Given the description of an element on the screen output the (x, y) to click on. 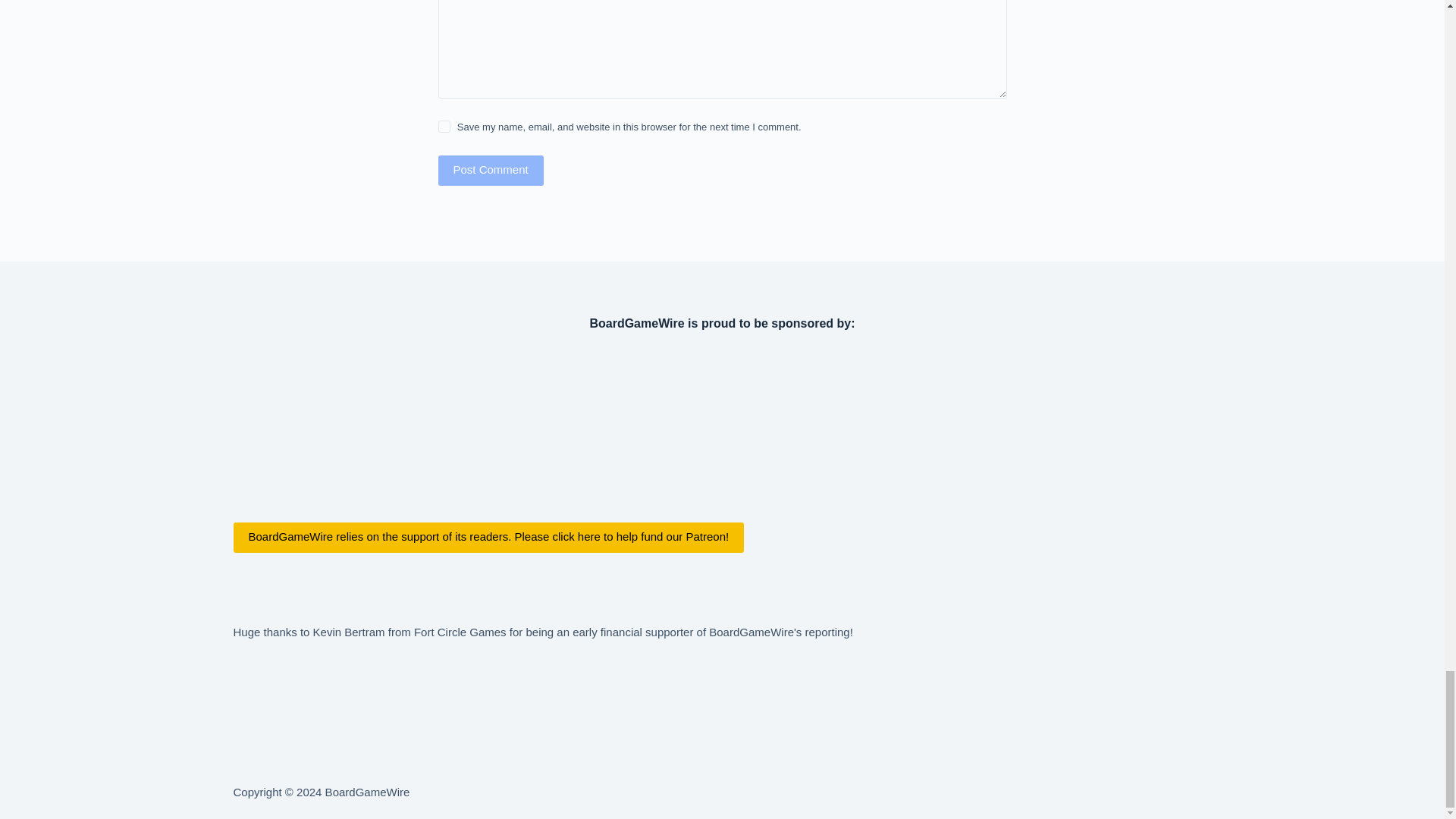
yes (443, 126)
